Given the description of an element on the screen output the (x, y) to click on. 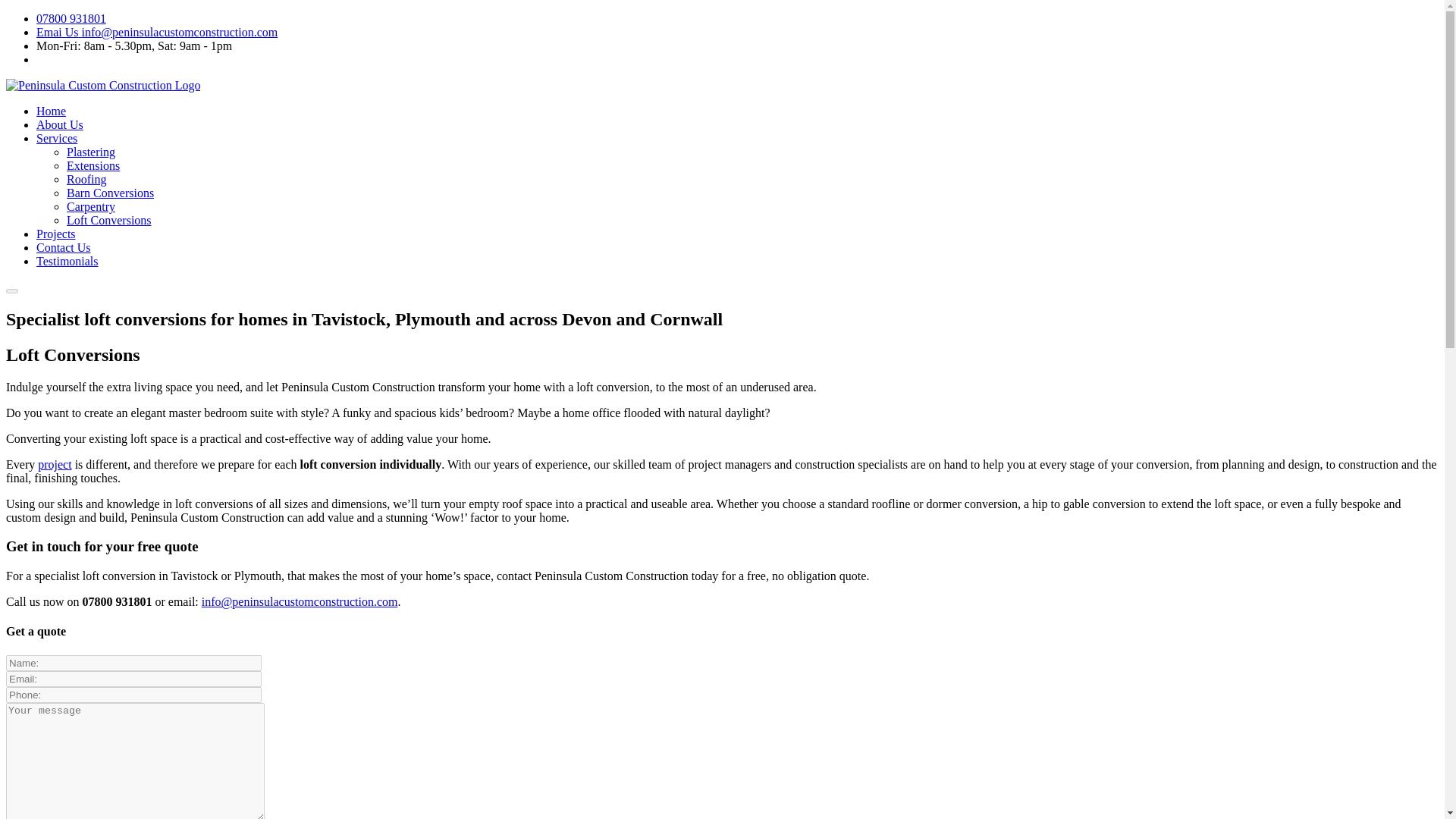
Services (56, 137)
Testimonials (67, 260)
Home (50, 110)
Roofing (86, 178)
Extensions (92, 164)
Barn Conversions (110, 192)
Plastering (90, 151)
Carpentry (90, 205)
Projects (55, 233)
07800 931801 (71, 18)
About Us (59, 124)
Loft Conversions (108, 219)
project (54, 463)
Contact Us (63, 246)
